Given the description of an element on the screen output the (x, y) to click on. 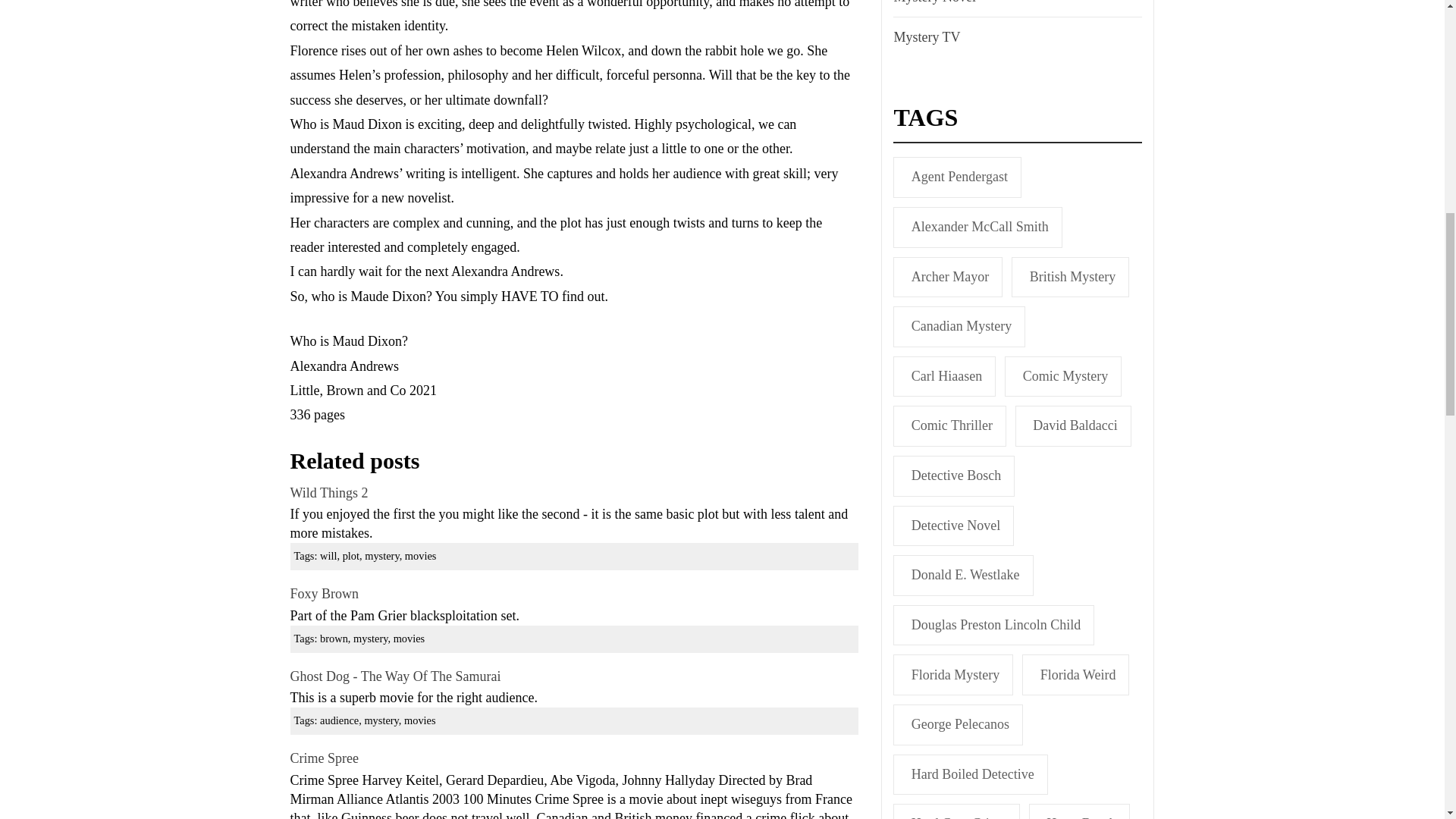
Agent Pendergast (957, 177)
Alexander McCall Smith (977, 227)
British Mystery (1070, 277)
Mystery TV (924, 37)
Crime Spree (323, 758)
Archer Mayor (948, 277)
Foxy Brown (323, 593)
Ghost Dog - The Way Of The Samurai (394, 676)
Wild Things 2 (328, 492)
Ghost Dog - The Way Of The Samurai (394, 676)
Wild Things 2 (328, 492)
Foxy Brown (323, 593)
Mystery Novel (932, 4)
Crime Spree (323, 758)
